Given the description of an element on the screen output the (x, y) to click on. 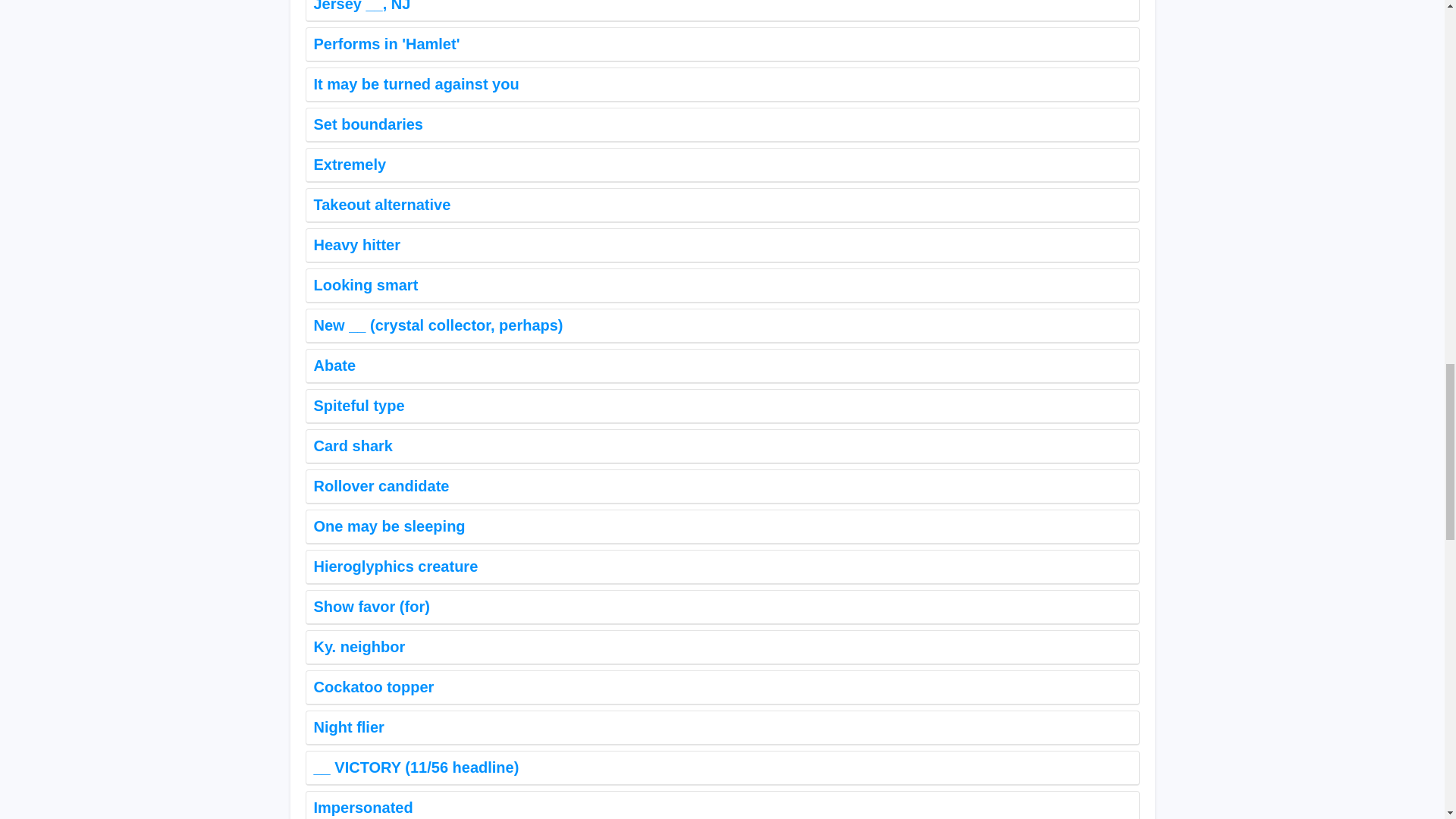
Performs in 'Hamlet' (721, 44)
Set boundaries (721, 124)
Extremely (721, 165)
It may be turned against you (721, 84)
Takeout alternative (721, 205)
